Given the description of an element on the screen output the (x, y) to click on. 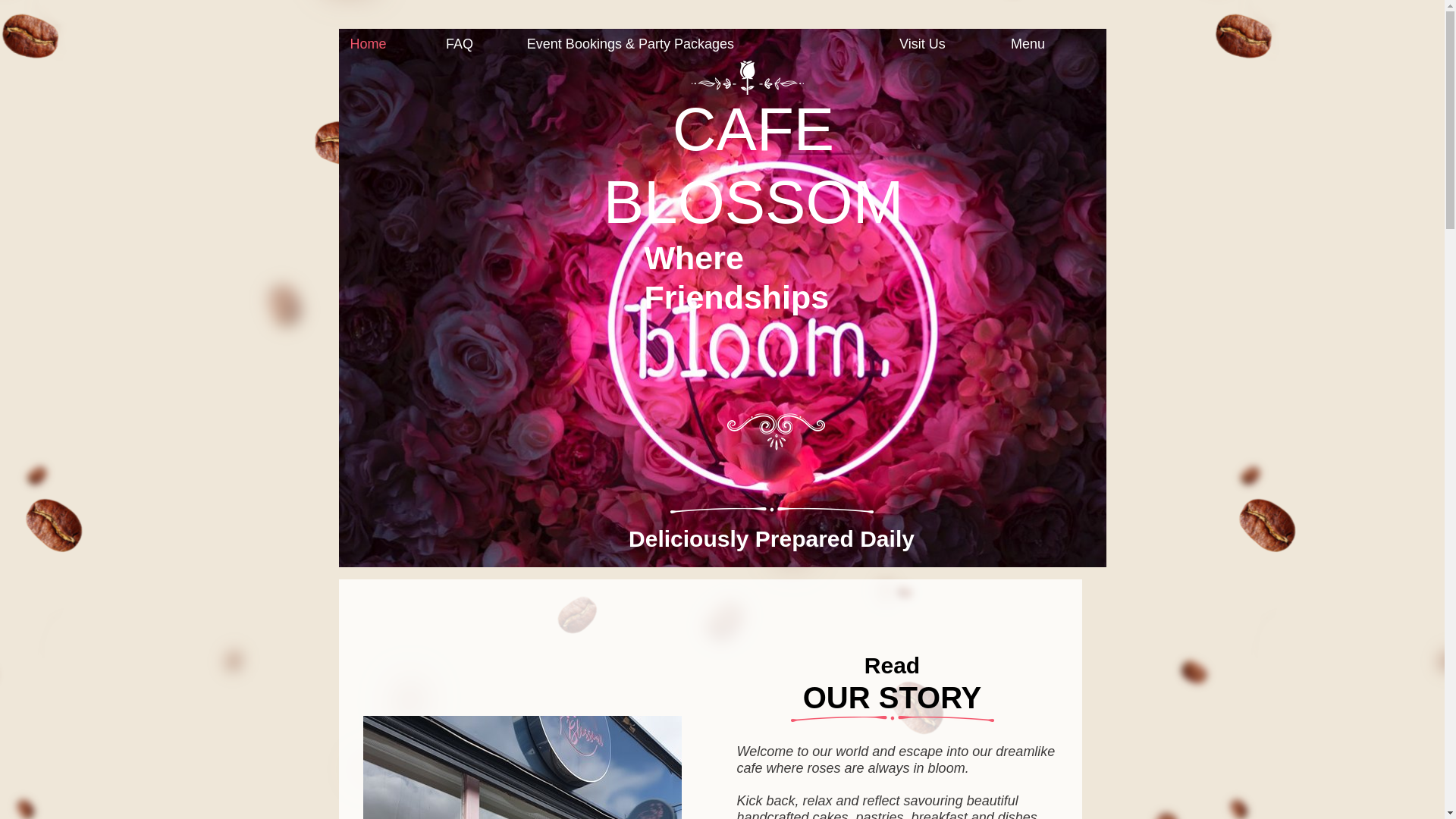
Menu (1045, 44)
Visit Us (943, 44)
FAQ (474, 44)
Home (385, 44)
